Given the description of an element on the screen output the (x, y) to click on. 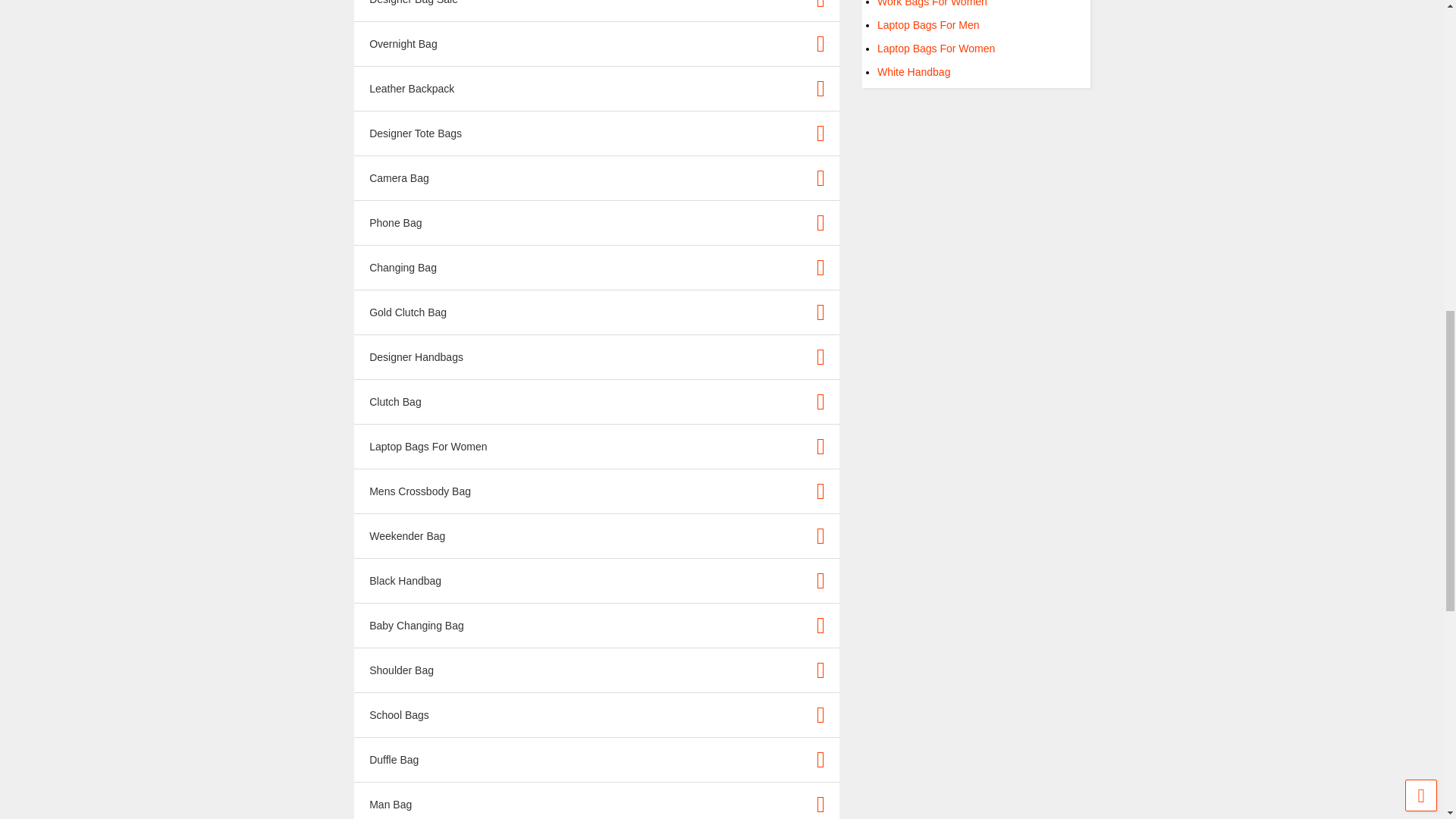
Overnight Bag (403, 43)
Designer Bag Sale (413, 2)
Leather Backpack (411, 87)
Designer Tote Bags (415, 133)
